Given the description of an element on the screen output the (x, y) to click on. 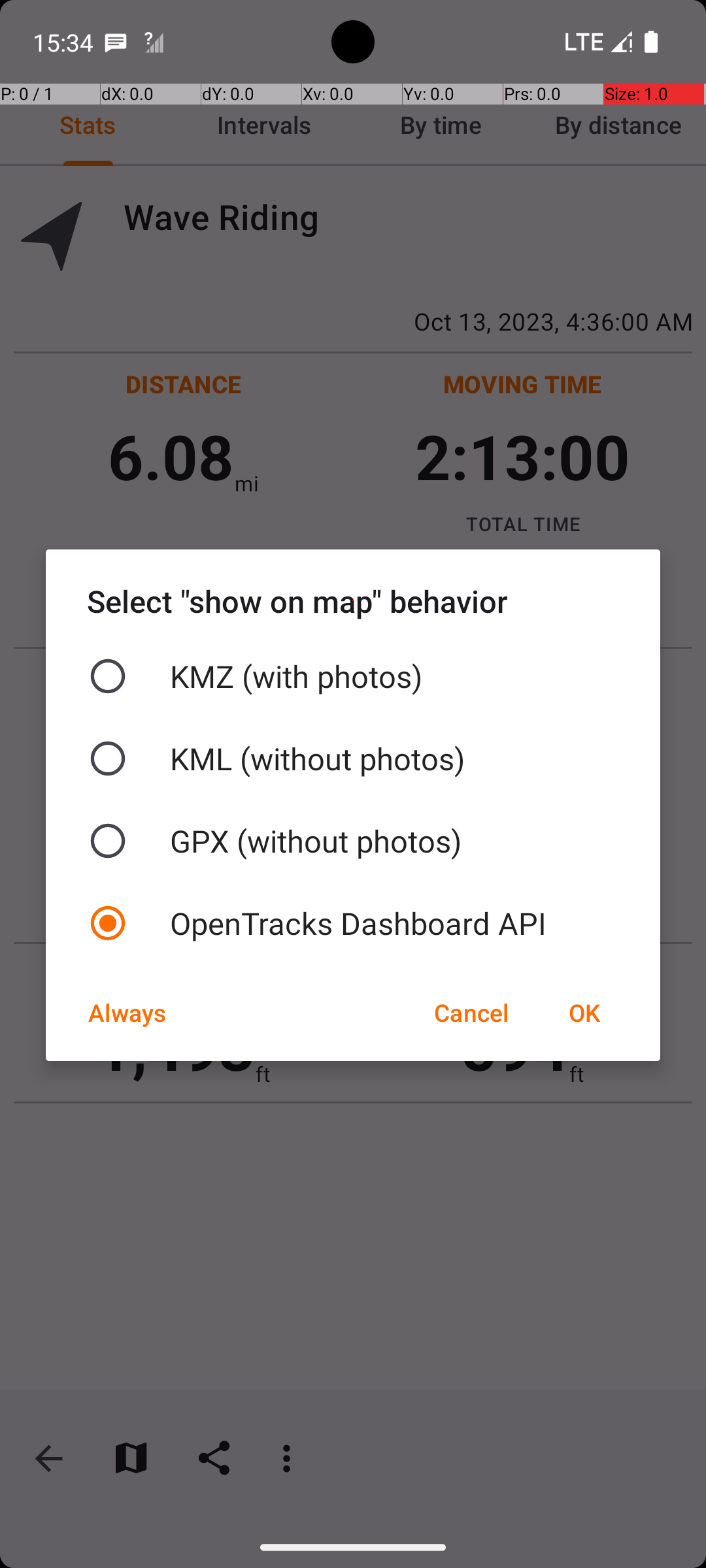
Select "show on map" behavior Element type: android.widget.TextView (352, 600)
KMZ (with photos) Element type: android.widget.CheckedTextView (352, 676)
KML (without photos) Element type: android.widget.CheckedTextView (352, 758)
GPX (without photos) Element type: android.widget.CheckedTextView (352, 840)
OpenTracks Dashboard API Element type: android.widget.CheckedTextView (352, 923)
